Given the description of an element on the screen output the (x, y) to click on. 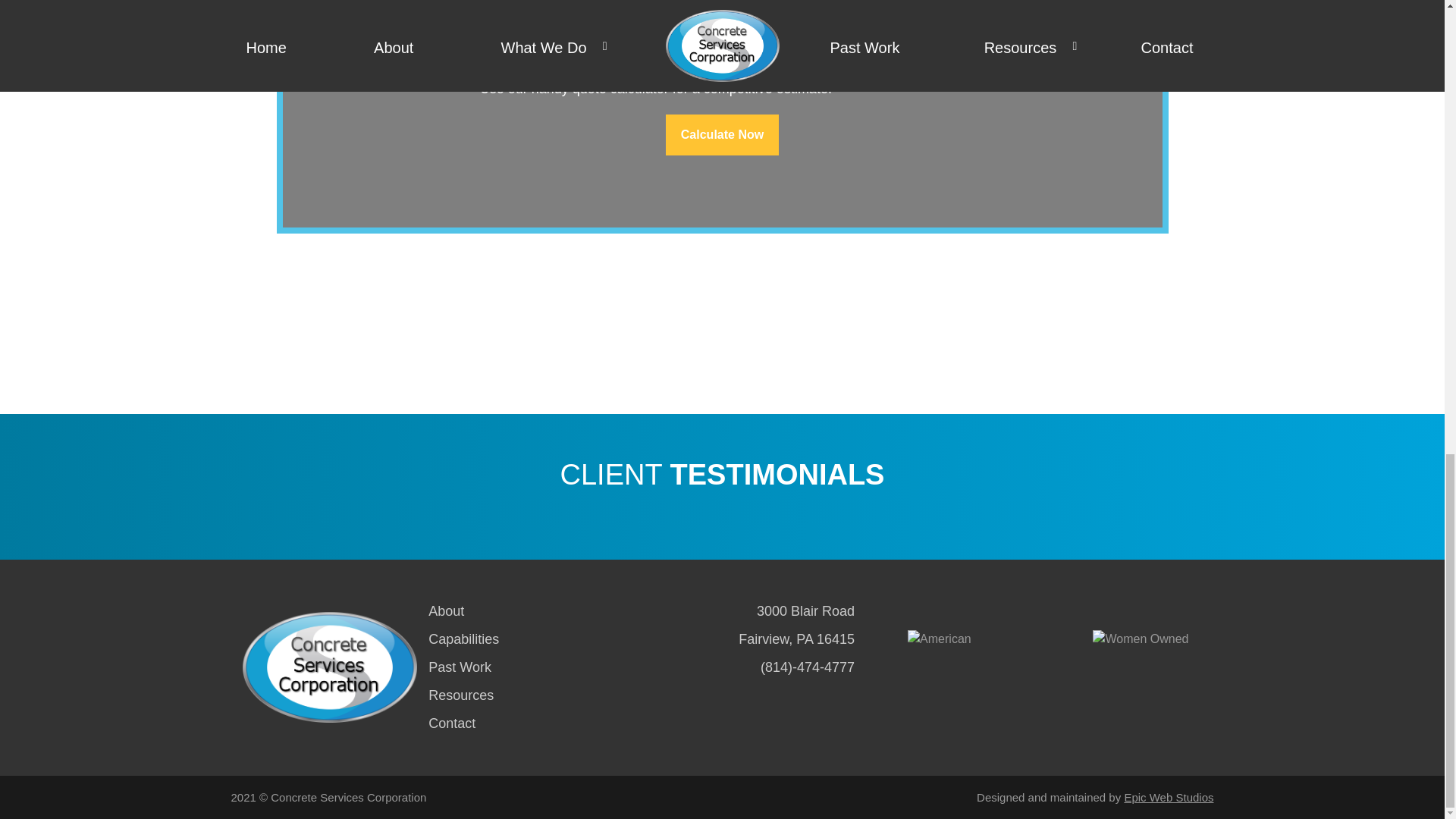
Calculate Now (721, 134)
